Given the description of an element on the screen output the (x, y) to click on. 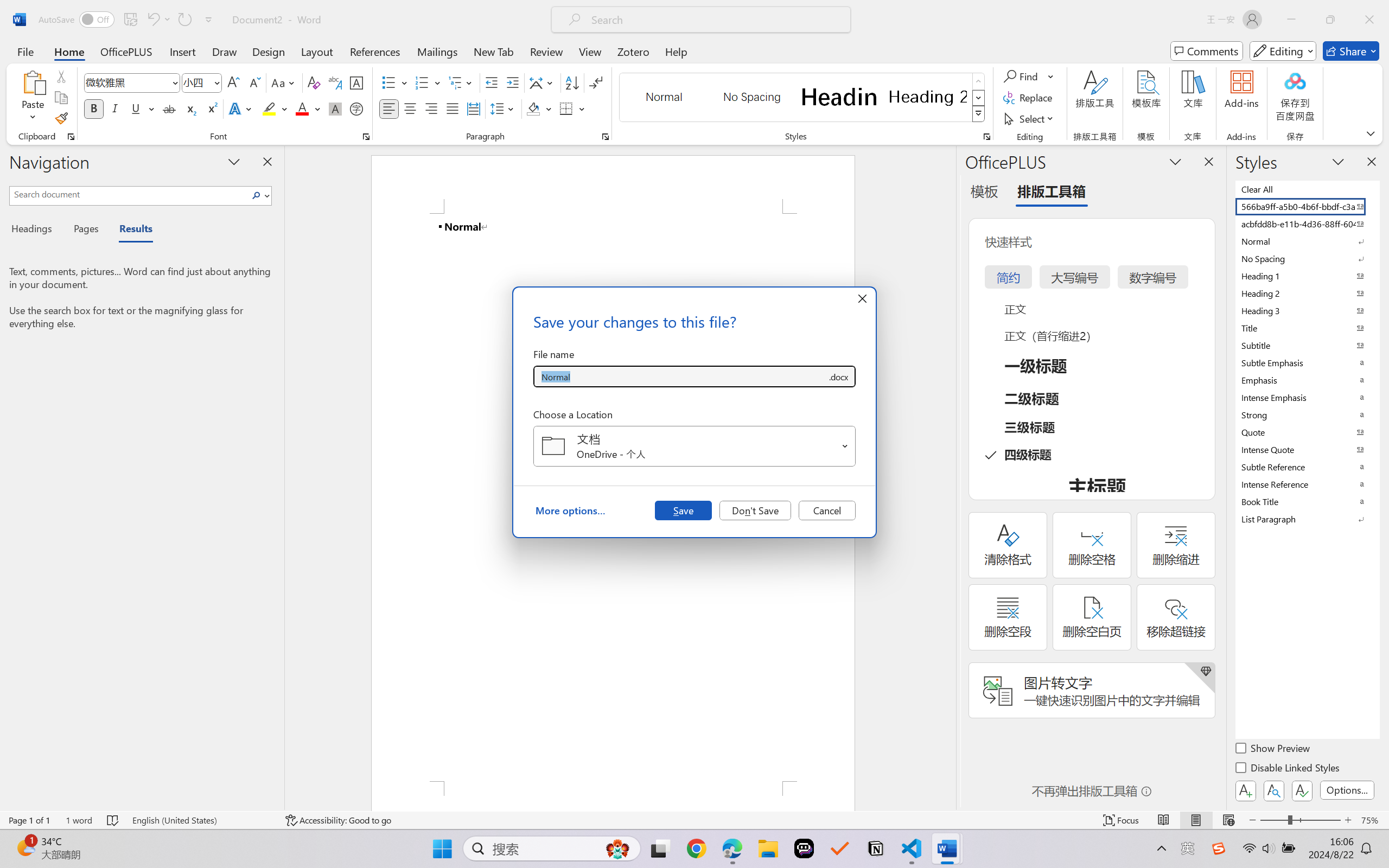
Class: MsoCommandBar (694, 819)
Normal (1306, 240)
Increase Indent (512, 82)
Line and Paragraph Spacing (503, 108)
Options... (1346, 789)
Customize Quick Access Toolbar (208, 19)
Paragraph... (605, 136)
Accessibility Checker Accessibility: Good to go (338, 819)
